Given the description of an element on the screen output the (x, y) to click on. 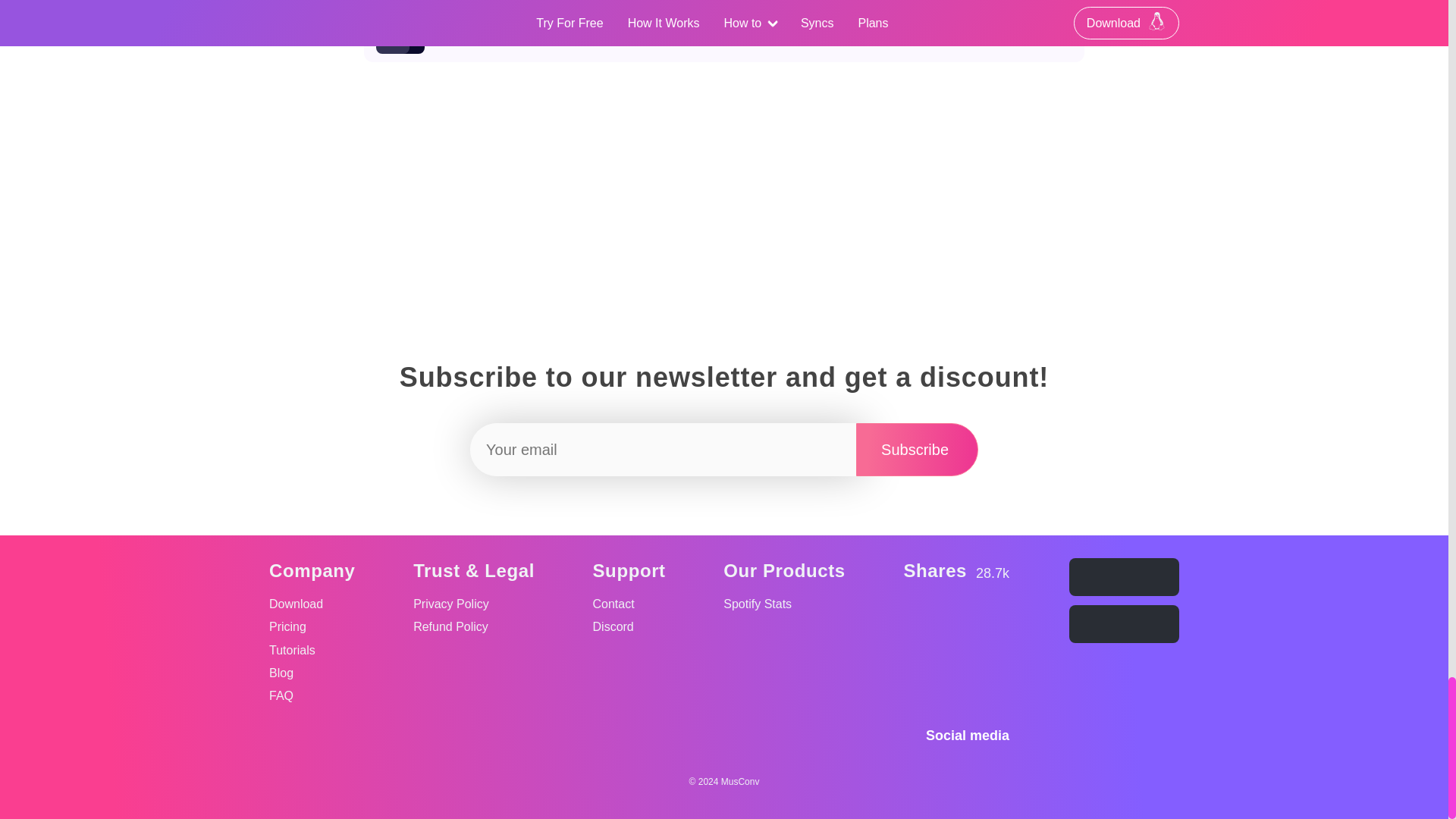
Share on Email (919, 625)
Subscribe (917, 449)
Share on Pinterest (993, 662)
Share on Reddit (919, 662)
Subscribe (957, 662)
Share on Twitter (917, 449)
Share on Facebook (993, 625)
